Given the description of an element on the screen output the (x, y) to click on. 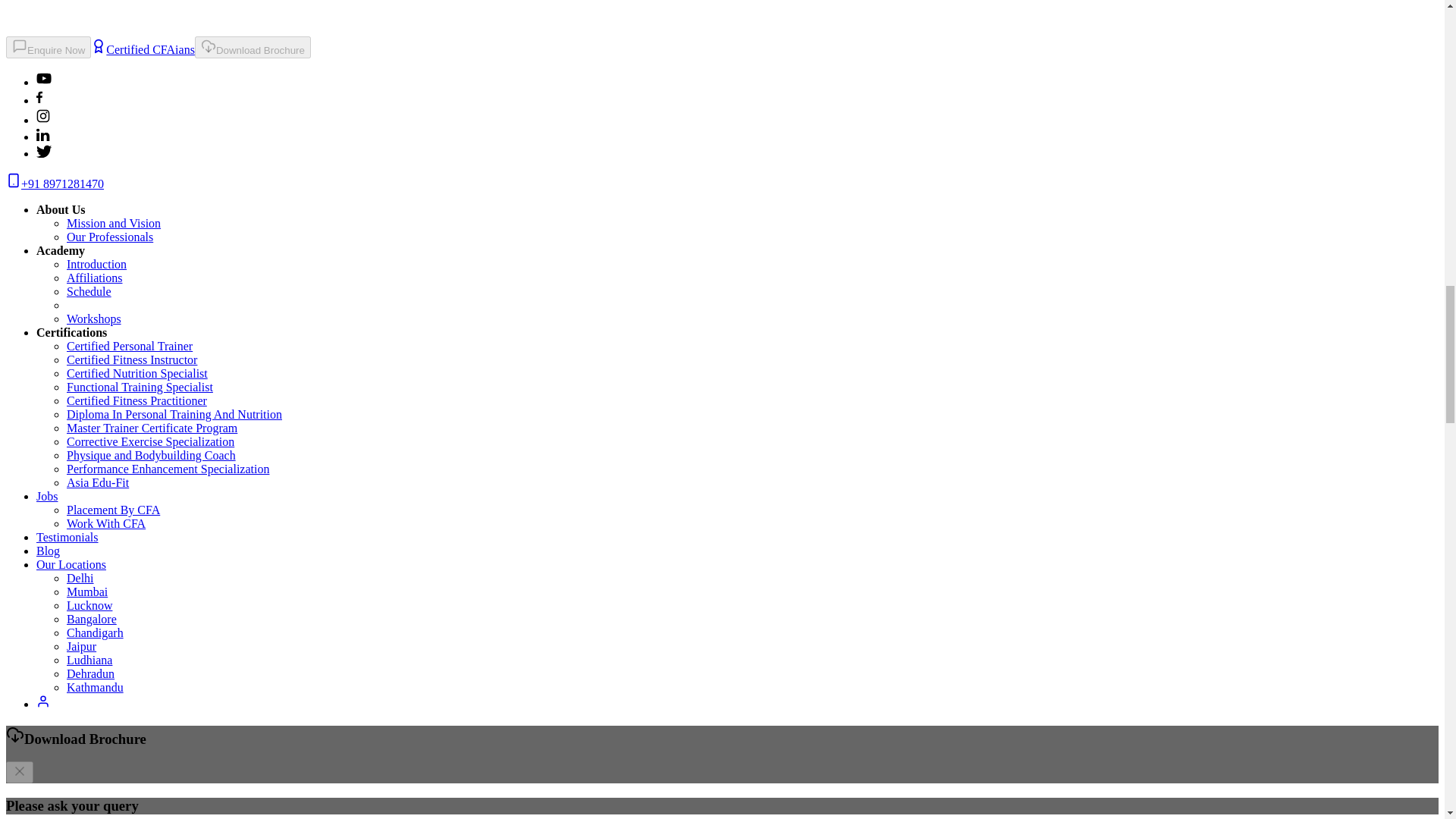
Instagram (42, 119)
Youtube (43, 82)
LinkedIn (43, 136)
Download Brochure (253, 47)
Enquire Now (47, 47)
Twitter (43, 153)
Certified CFAians (142, 49)
